Given the description of an element on the screen output the (x, y) to click on. 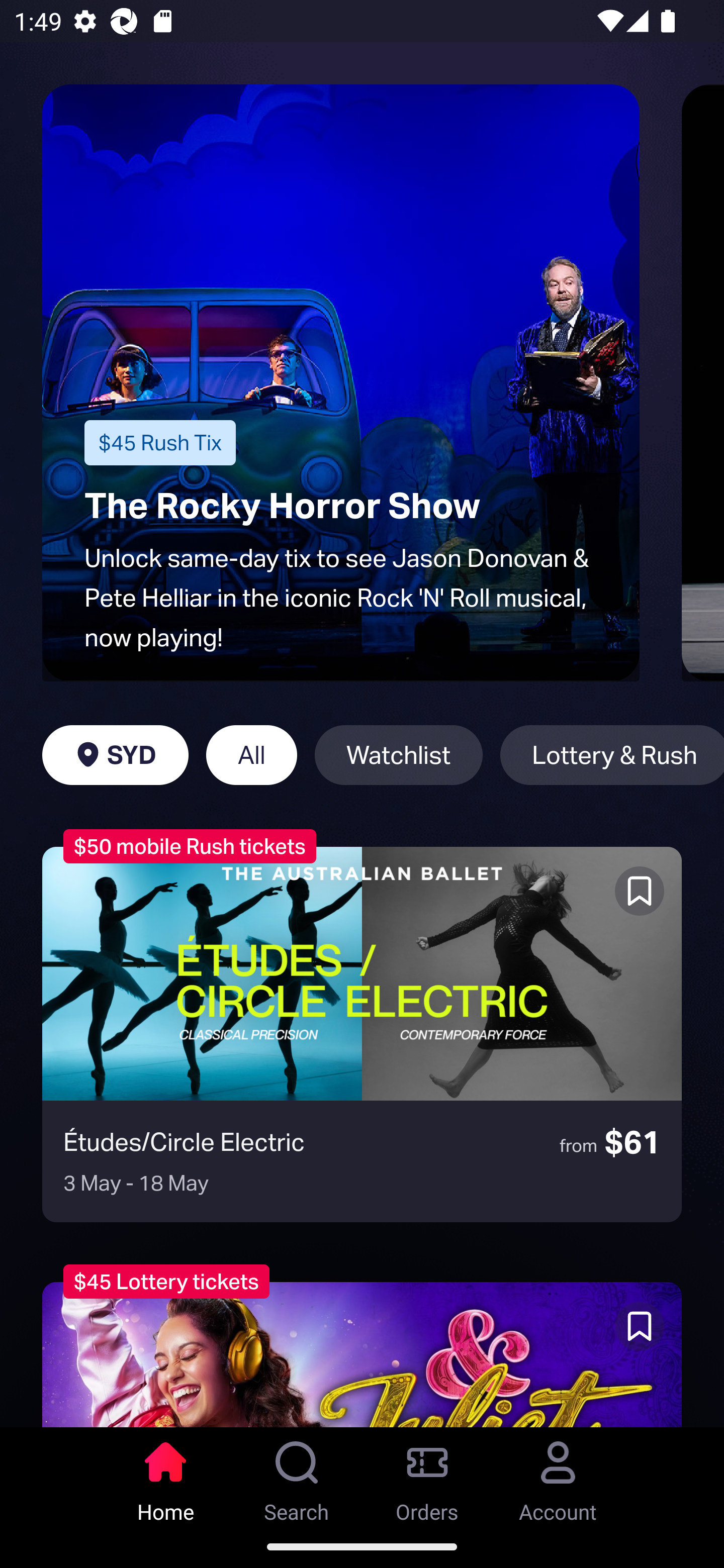
SYD (114, 754)
All (251, 754)
Watchlist (398, 754)
Lottery & Rush (612, 754)
Études/Circle Electric from $61 3 May - 18 May (361, 1033)
Search (296, 1475)
Orders (427, 1475)
Account (558, 1475)
